Given the description of an element on the screen output the (x, y) to click on. 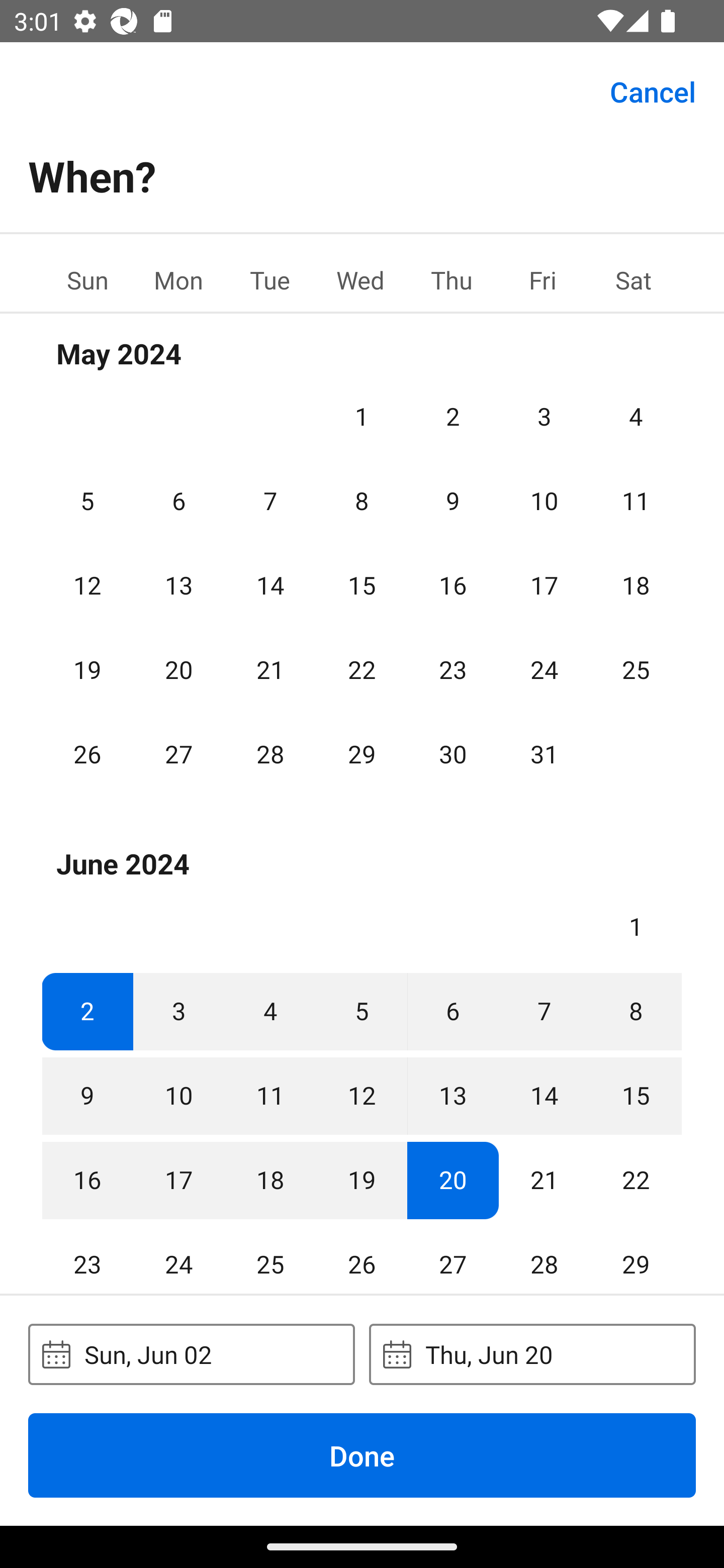
Cancel (652, 90)
Sun, Jun 02 (191, 1353)
Thu, Jun 20 (532, 1353)
Done (361, 1454)
